Given the description of an element on the screen output the (x, y) to click on. 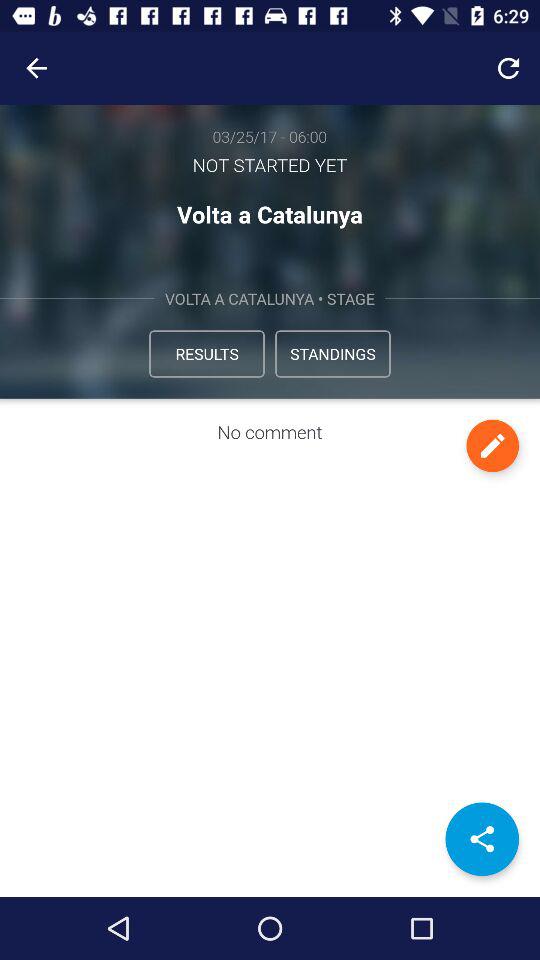
press the results item (206, 353)
